Given the description of an element on the screen output the (x, y) to click on. 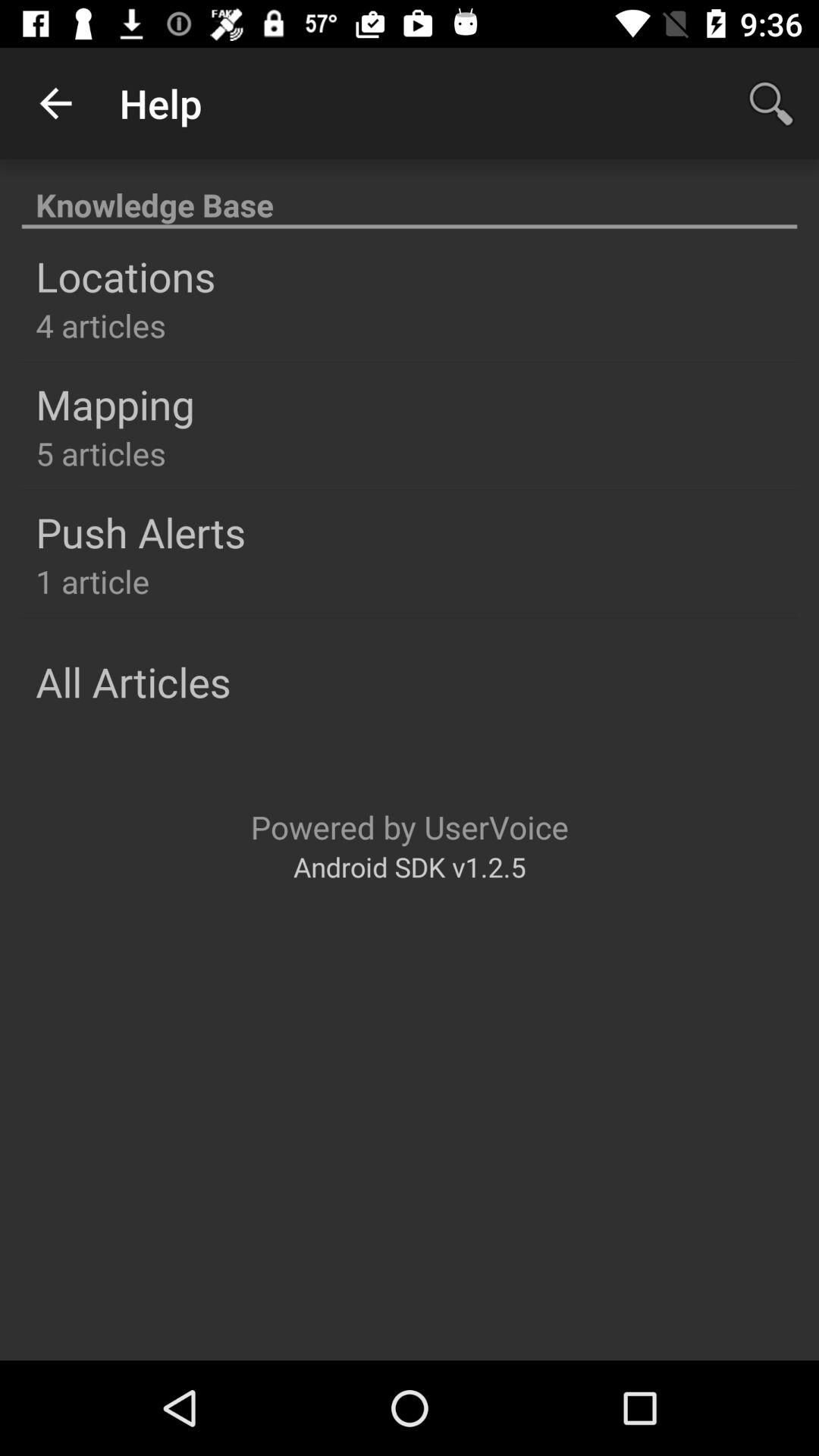
select mapping (114, 403)
